Given the description of an element on the screen output the (x, y) to click on. 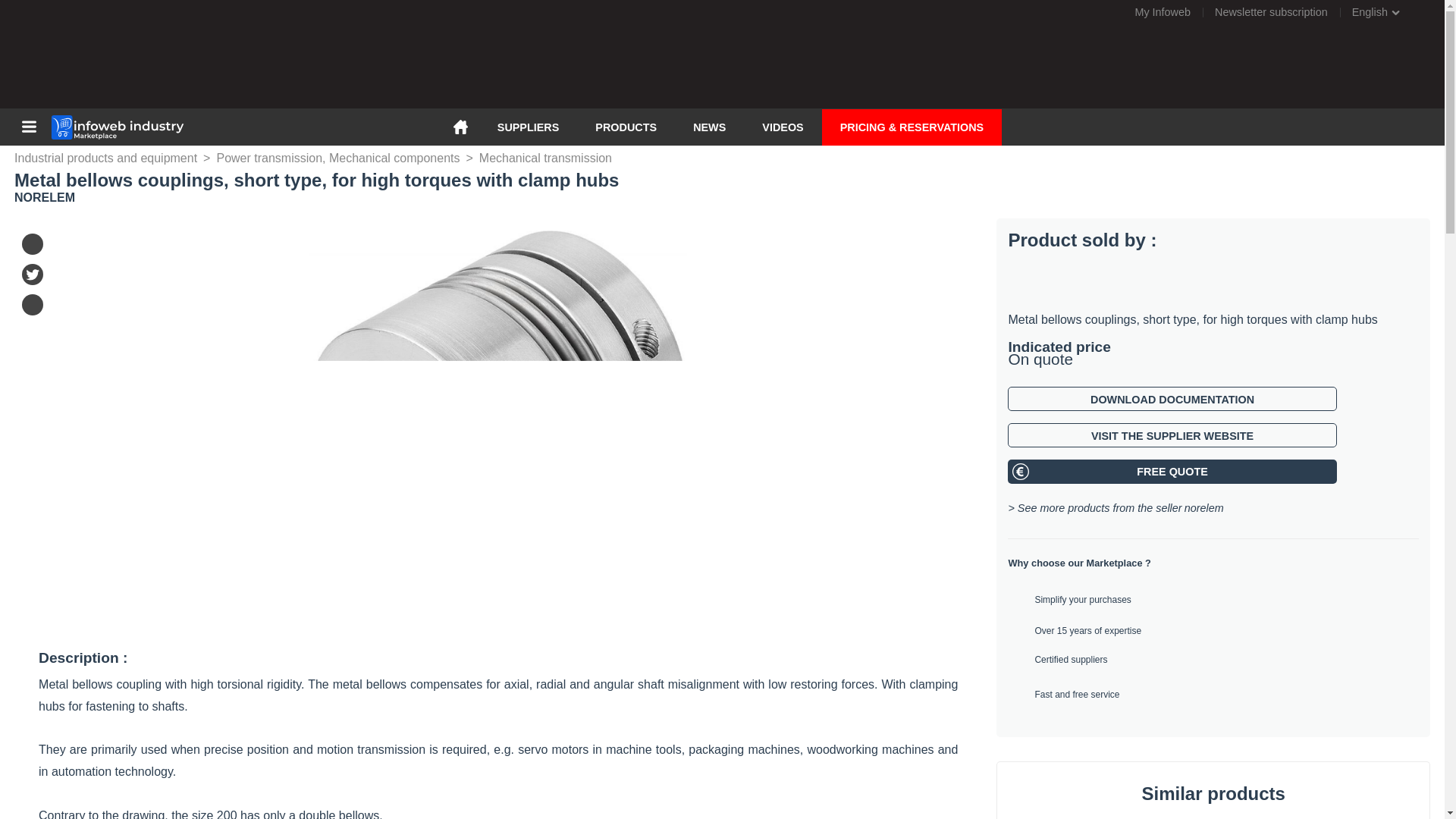
Newsletter subscription (1270, 12)
My Infoweb (1162, 12)
Newsletter subscription (1270, 12)
English (1385, 12)
norelem (1204, 508)
International marketplaces (1385, 12)
My Infoweb (1162, 12)
